Given the description of an element on the screen output the (x, y) to click on. 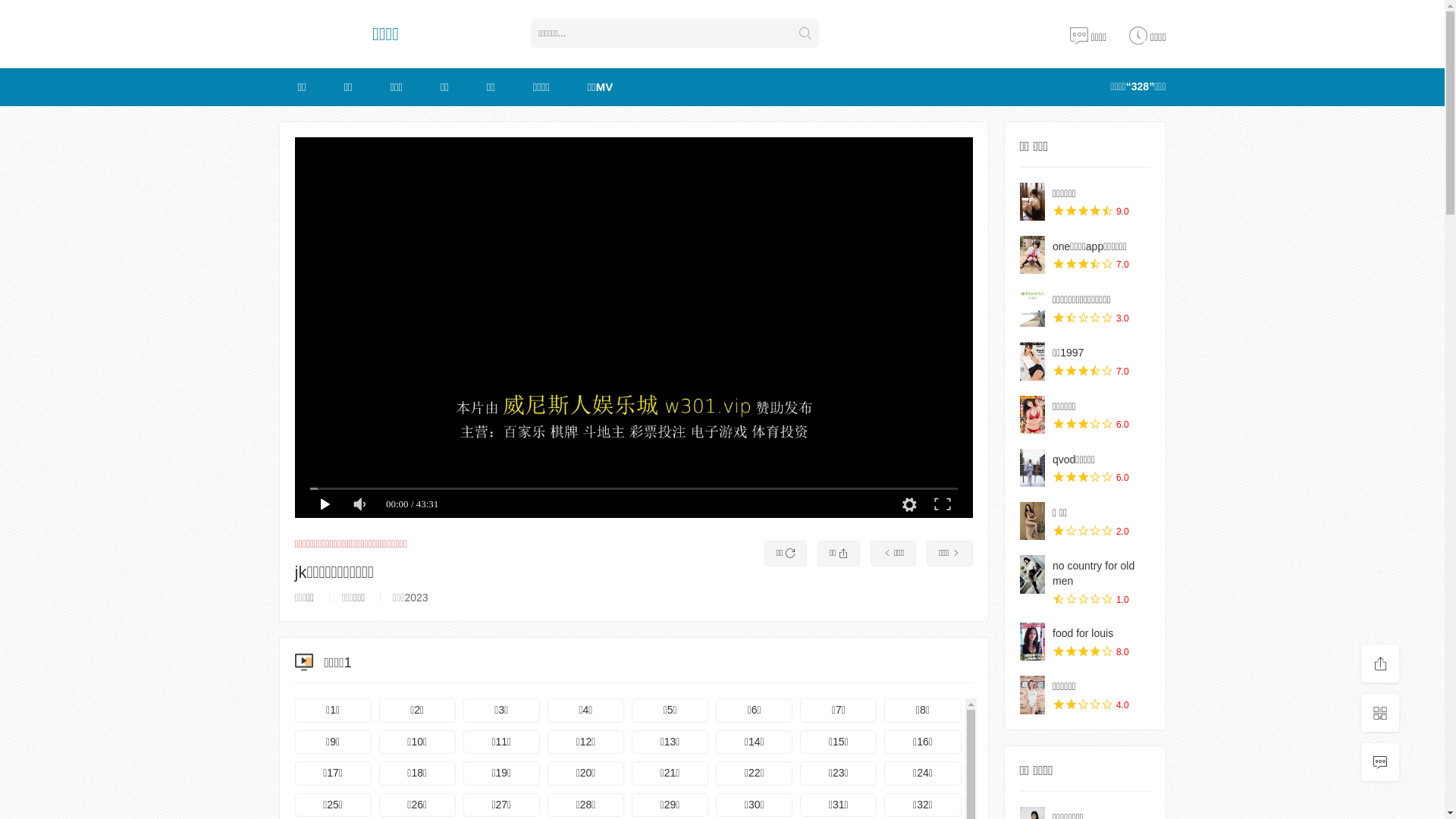
no country for old men Element type: text (1093, 572)
no country for old men Element type: hover (1031, 574)
food for louis Element type: text (1082, 633)
food for louis Element type: hover (1031, 641)
